Given the description of an element on the screen output the (x, y) to click on. 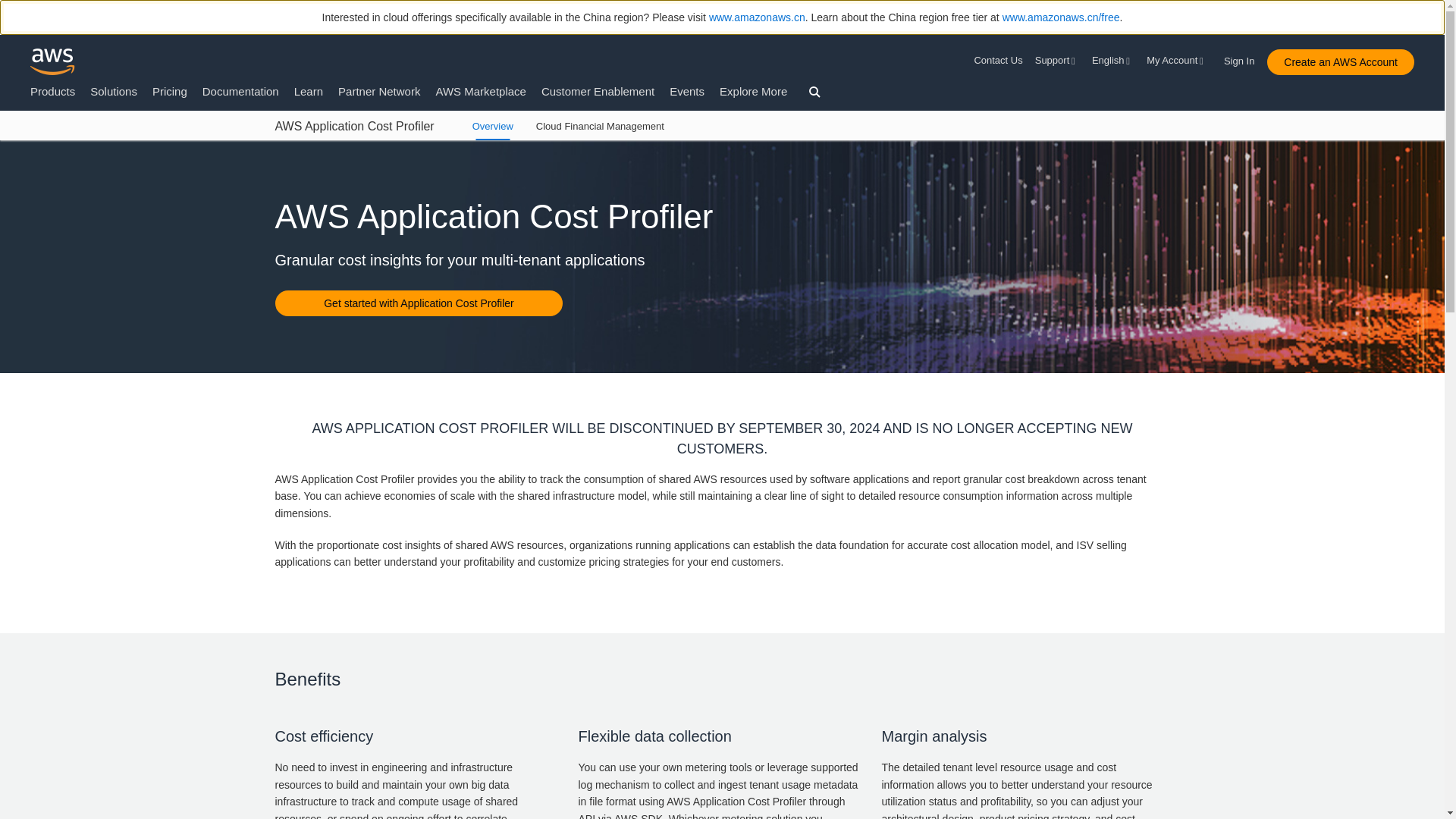
www.amazonaws.cn (757, 17)
Products (52, 91)
Explore More (753, 91)
Solutions (113, 91)
English  (1113, 60)
Pricing (169, 91)
Documentation (240, 91)
Support  (1057, 60)
Create an AWS Account (1339, 62)
Partner Network (378, 91)
My Account  (1177, 60)
AWS Marketplace (480, 91)
Click here to return to Amazon Web Services homepage (52, 61)
Sign In (1243, 58)
Learn (308, 91)
